Given the description of an element on the screen output the (x, y) to click on. 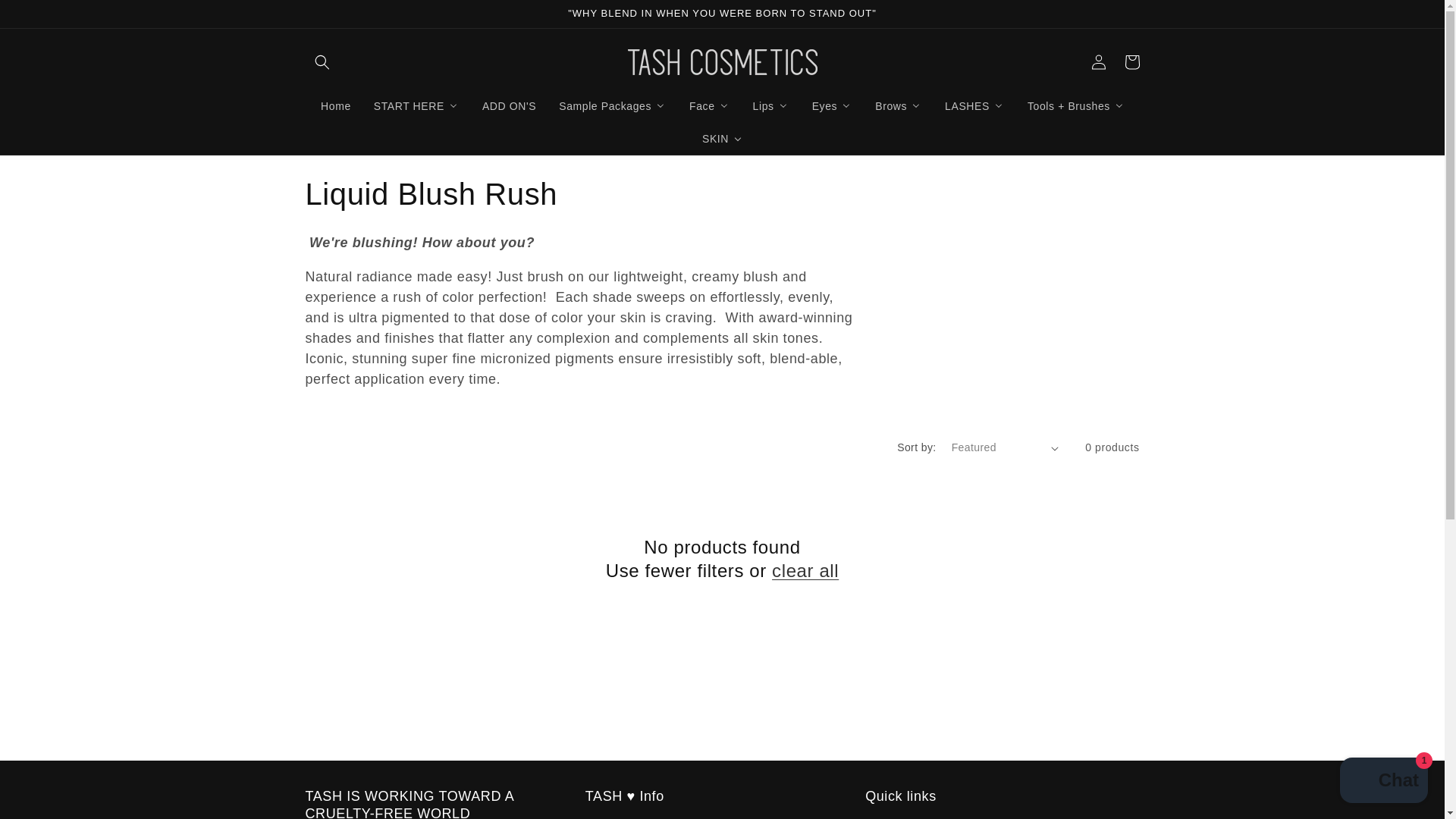
Skip to content (45, 17)
